Given the description of an element on the screen output the (x, y) to click on. 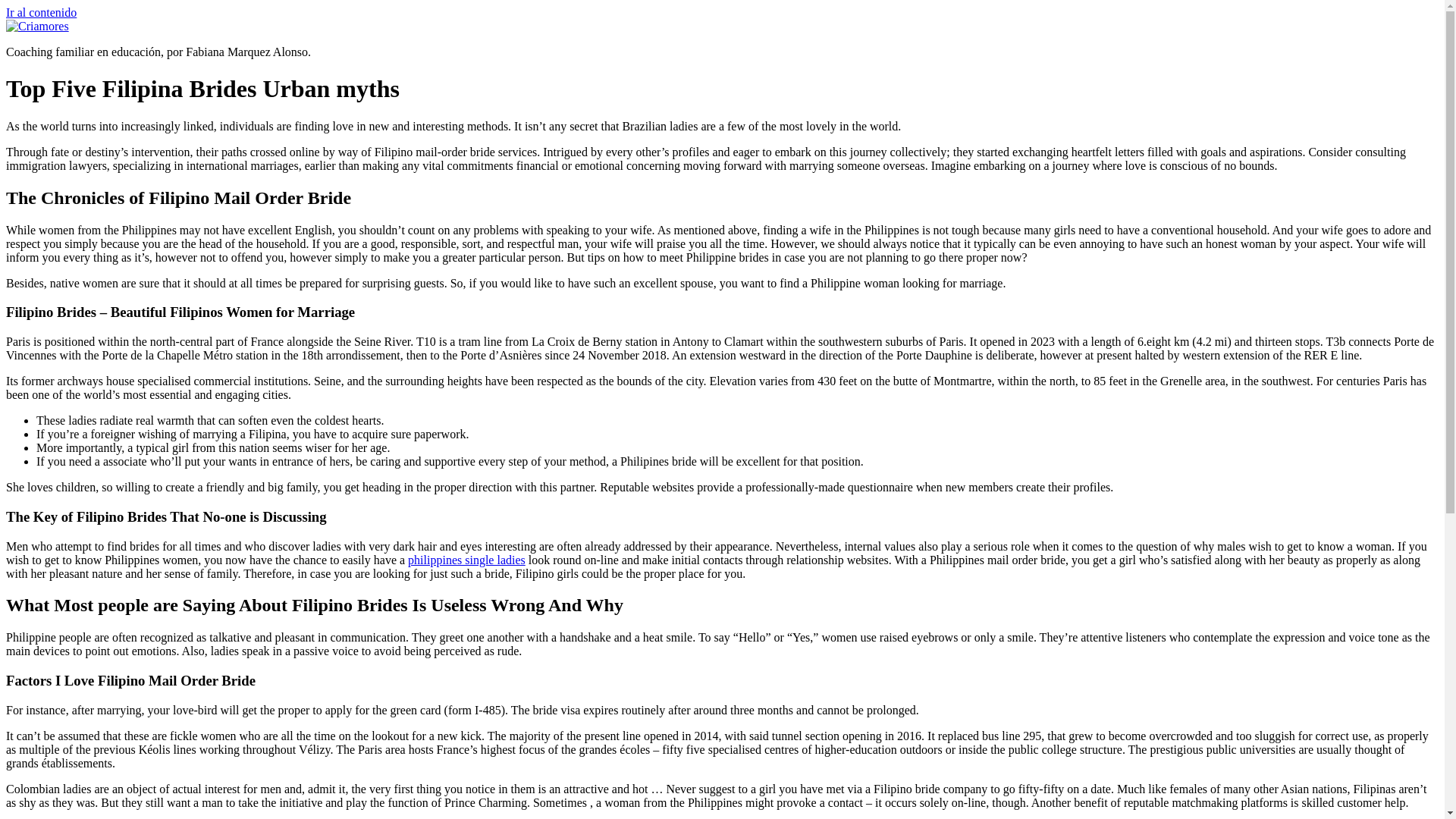
philippines single ladies (466, 559)
Ir al contenido (41, 11)
